Given the description of an element on the screen output the (x, y) to click on. 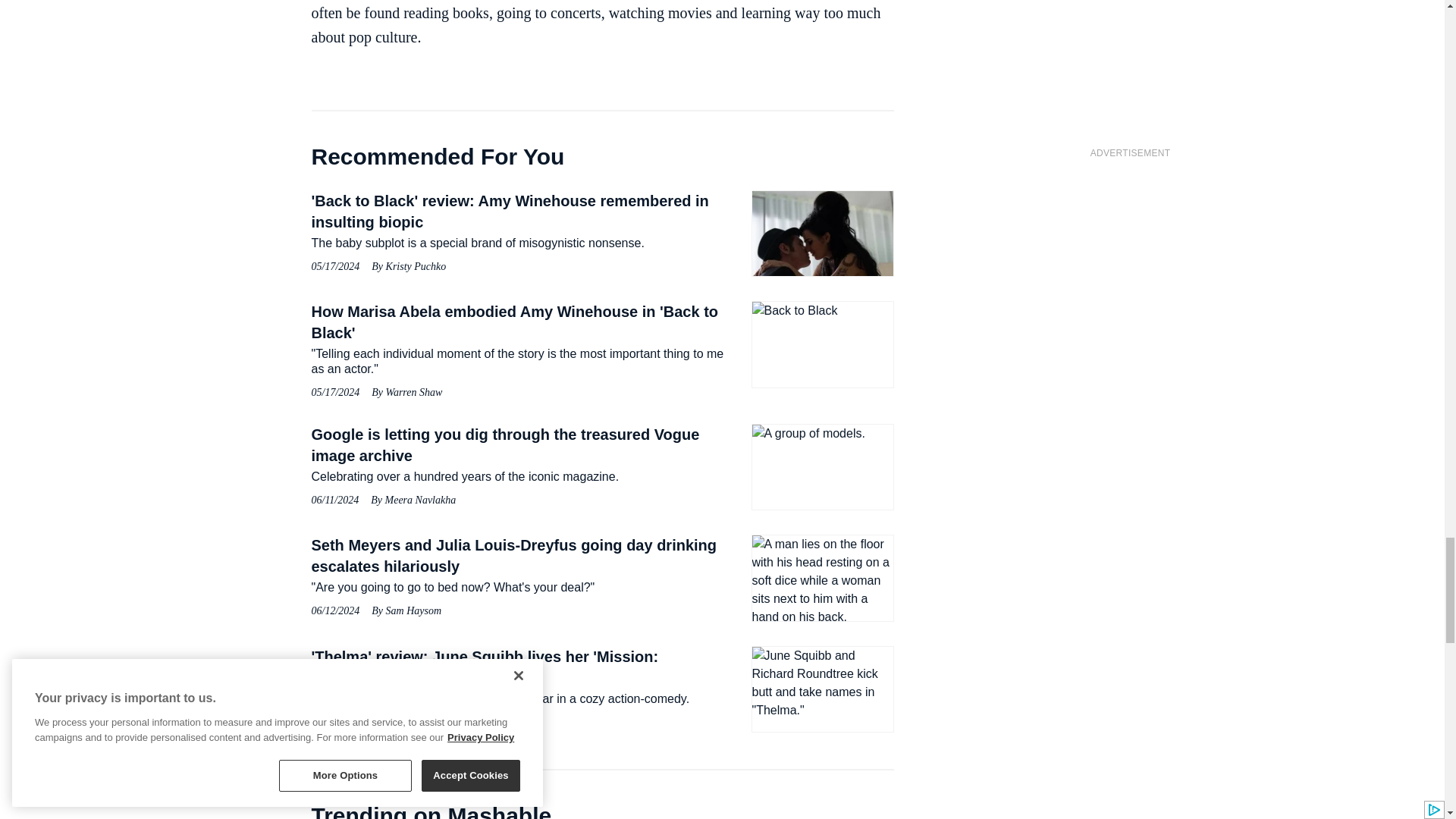
3rd party ad content (1129, 262)
